Given the description of an element on the screen output the (x, y) to click on. 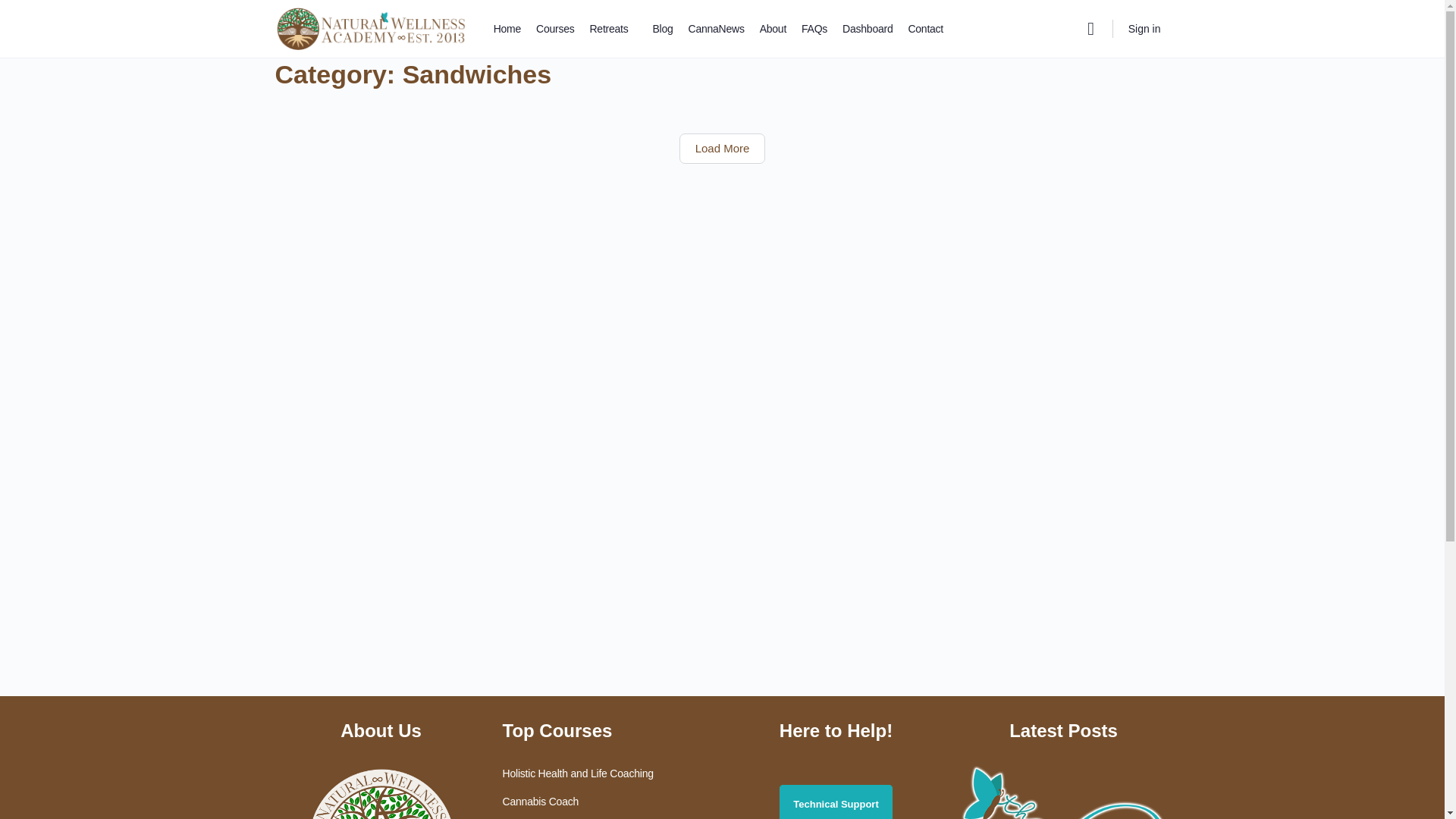
Logo (380, 792)
Sign in (1144, 28)
CannaNews (716, 28)
Home (288, 24)
Load More (722, 148)
Home (288, 24)
